Given the description of an element on the screen output the (x, y) to click on. 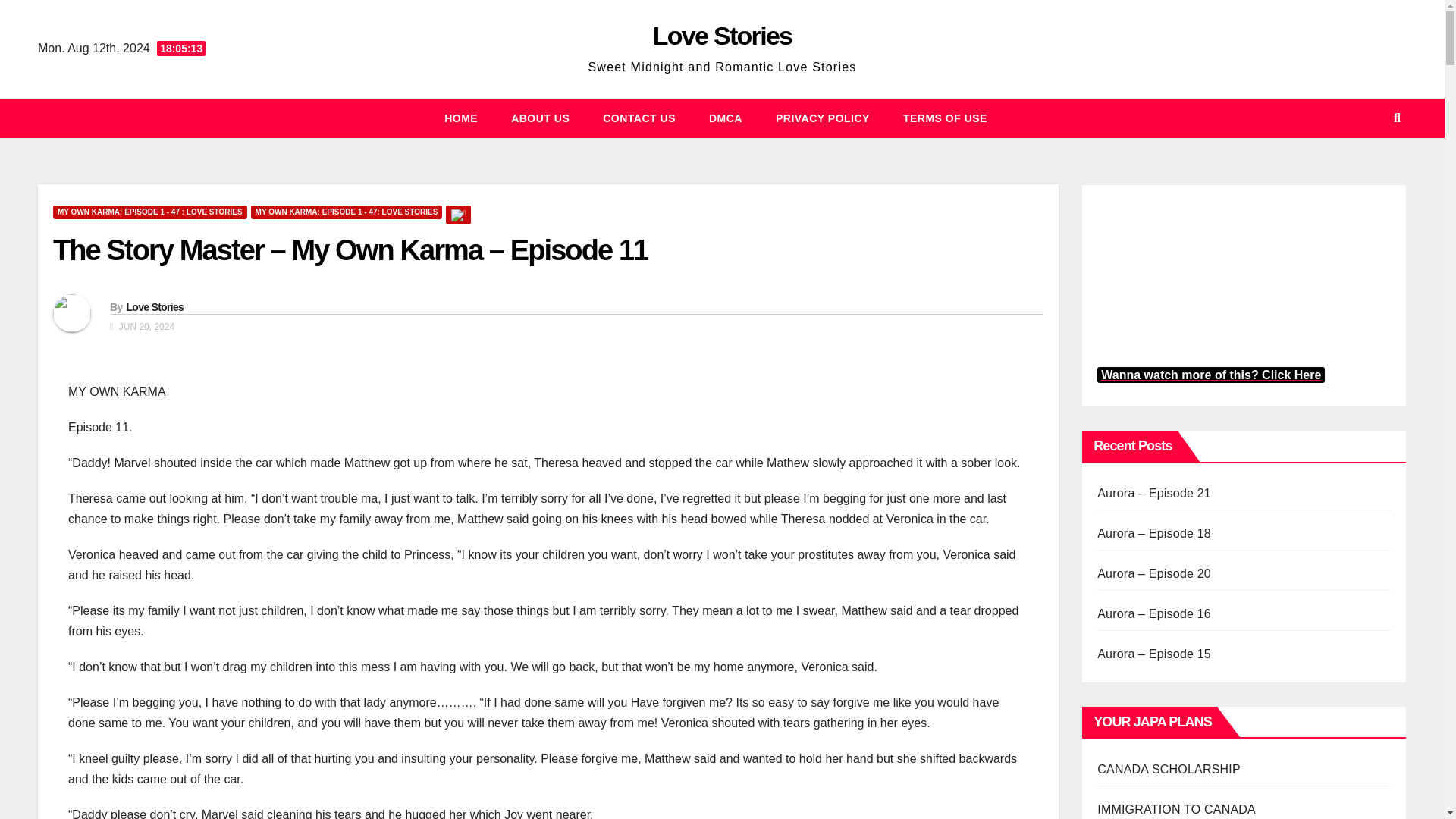
Love Stories (154, 306)
PRIVACY POLICY (822, 118)
HOME (461, 118)
Home (461, 118)
CONTACT US (639, 118)
Love Stories (722, 35)
MY OWN KARMA: EPISODE 1 - 47: LOVE STORIES (346, 212)
DMCA (725, 118)
MY OWN KARMA: EPISODE 1 - 47 : LOVE STORIES (149, 212)
TERMS OF USE (945, 118)
